Given the description of an element on the screen output the (x, y) to click on. 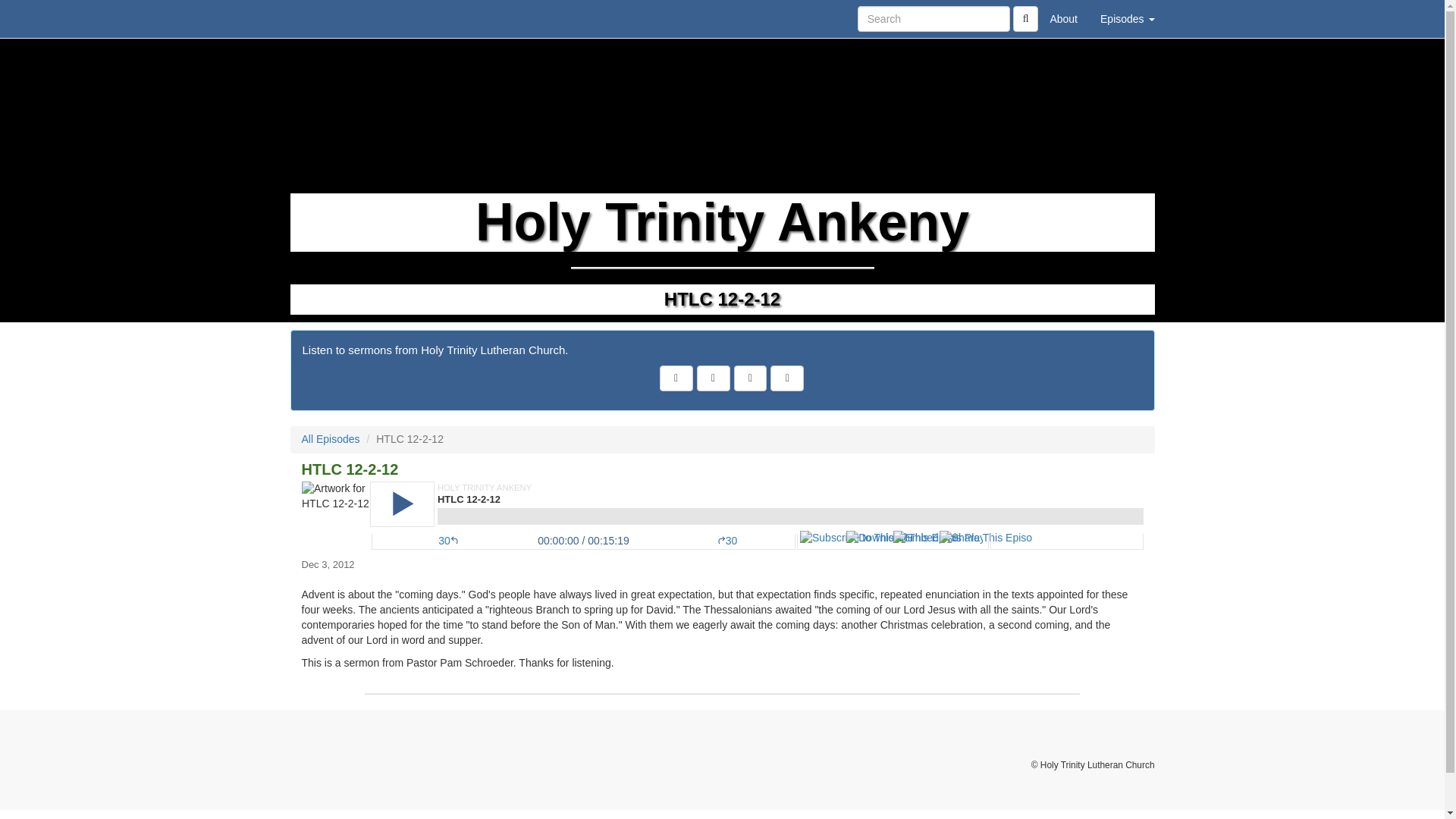
HTLC 12-2-12 (721, 515)
Episodes (1127, 18)
Home Page (320, 18)
About (1063, 18)
